Given the description of an element on the screen output the (x, y) to click on. 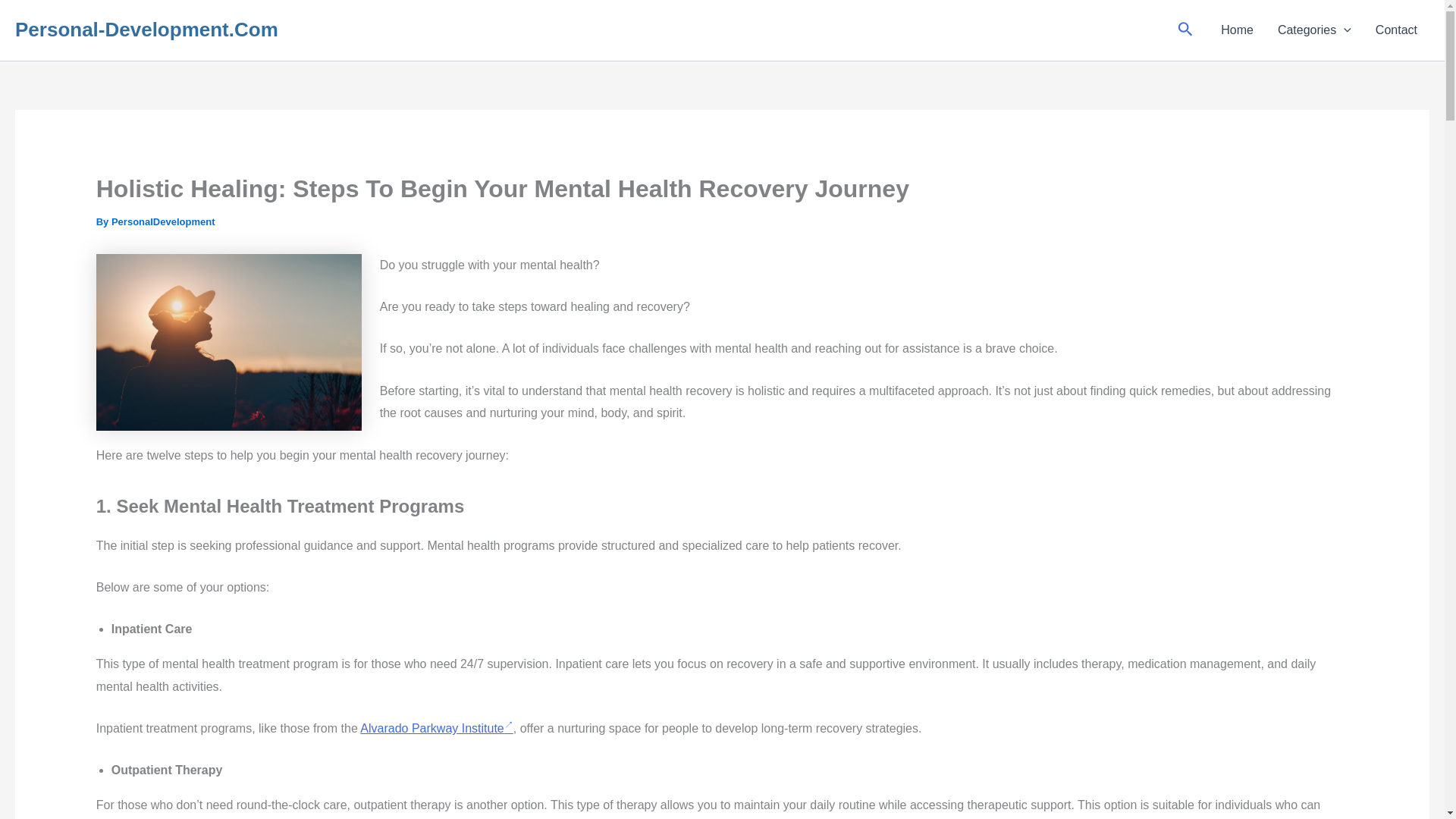
View all posts by PersonalDevelopment (163, 221)
Personal-Development.Com (146, 29)
Contact (1395, 30)
Home (1236, 30)
Categories (1313, 30)
